Given the description of an element on the screen output the (x, y) to click on. 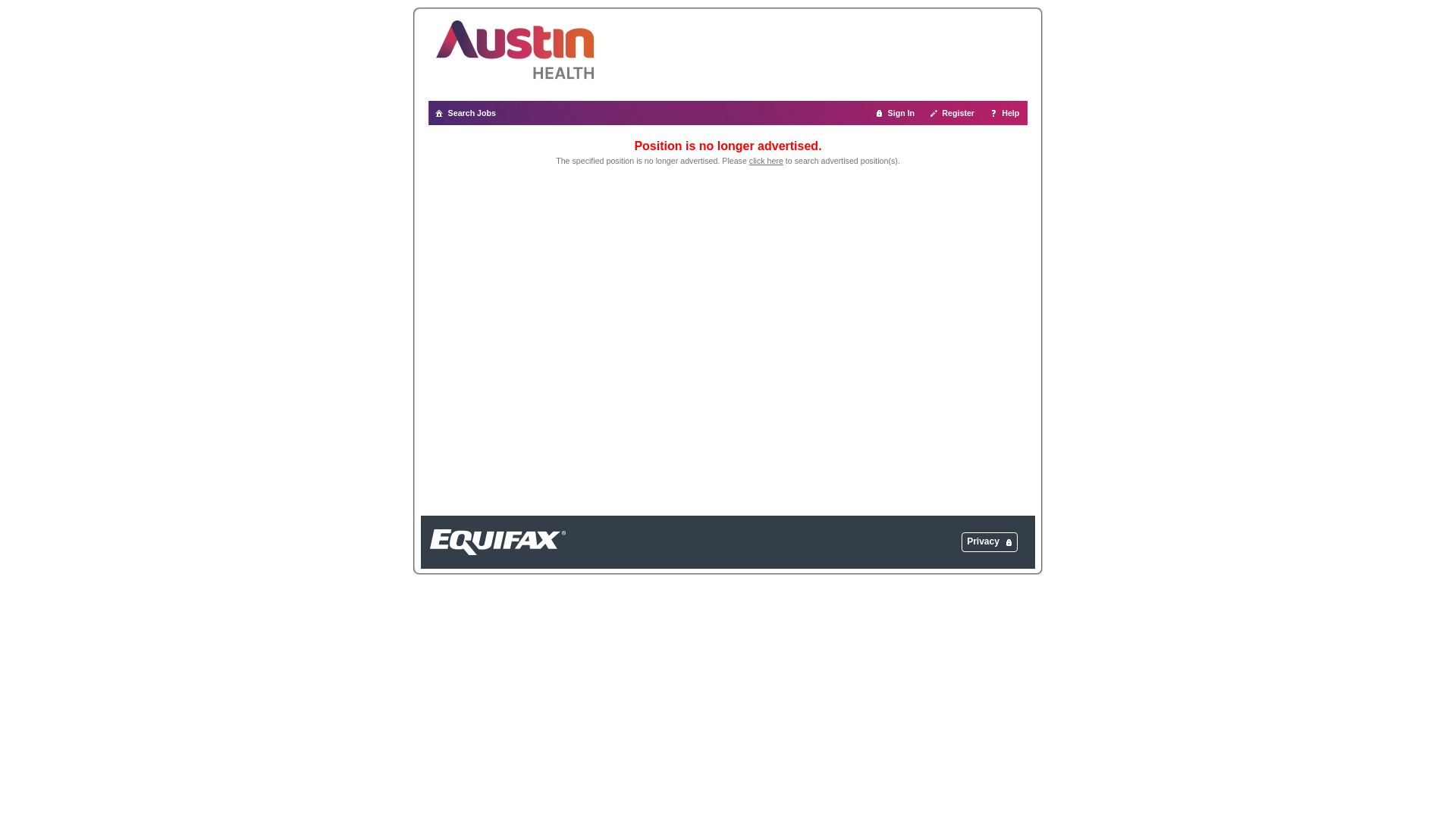
Sign In Element type: text (895, 112)
click here Element type: text (766, 160)
Search Jobs Element type: text (466, 112)
Help Element type: text (1004, 112)
Privacy Element type: text (982, 541)
Register Element type: text (952, 112)
